Given the description of an element on the screen output the (x, y) to click on. 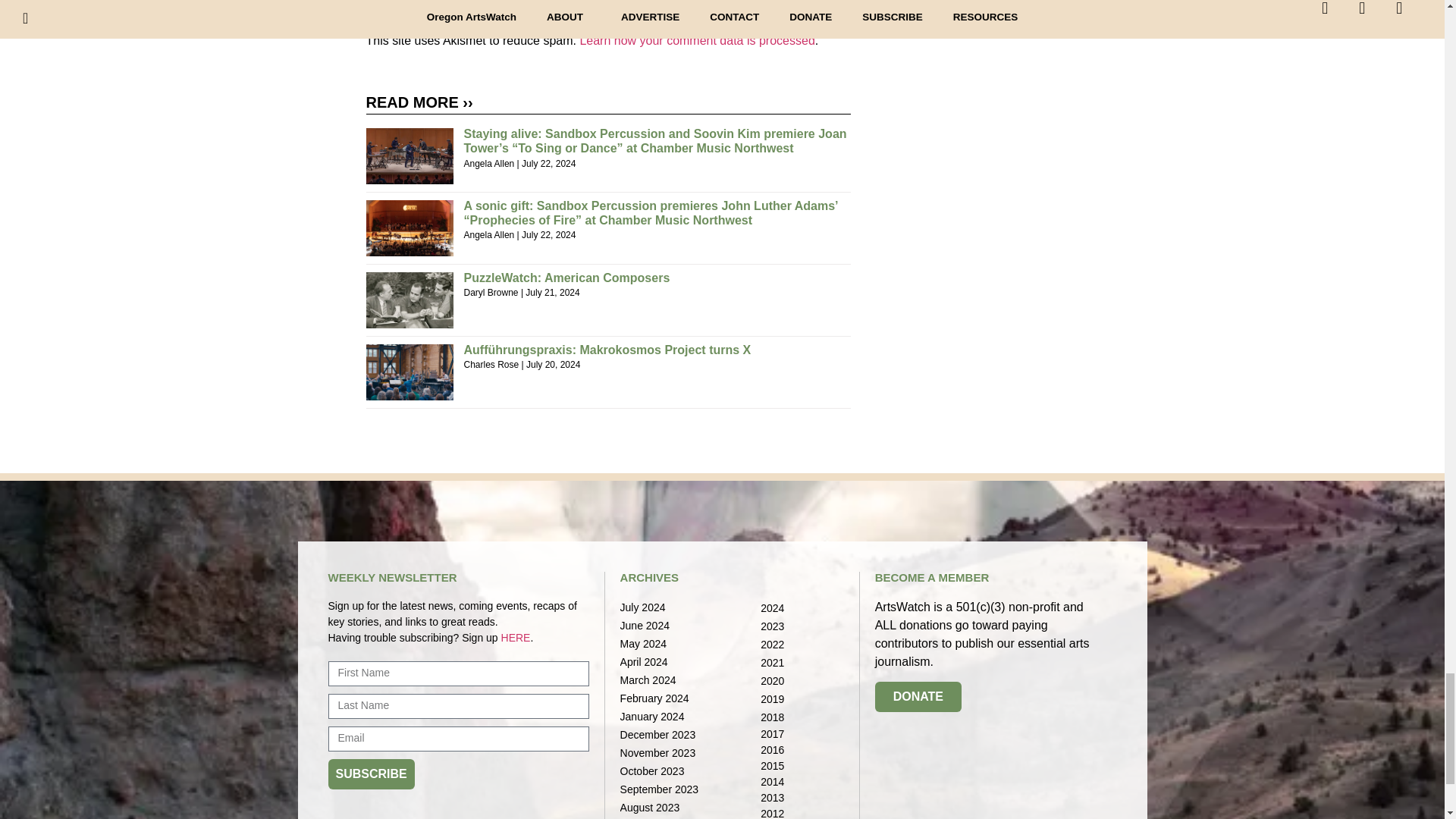
Post Comment (427, 10)
